Given the description of an element on the screen output the (x, y) to click on. 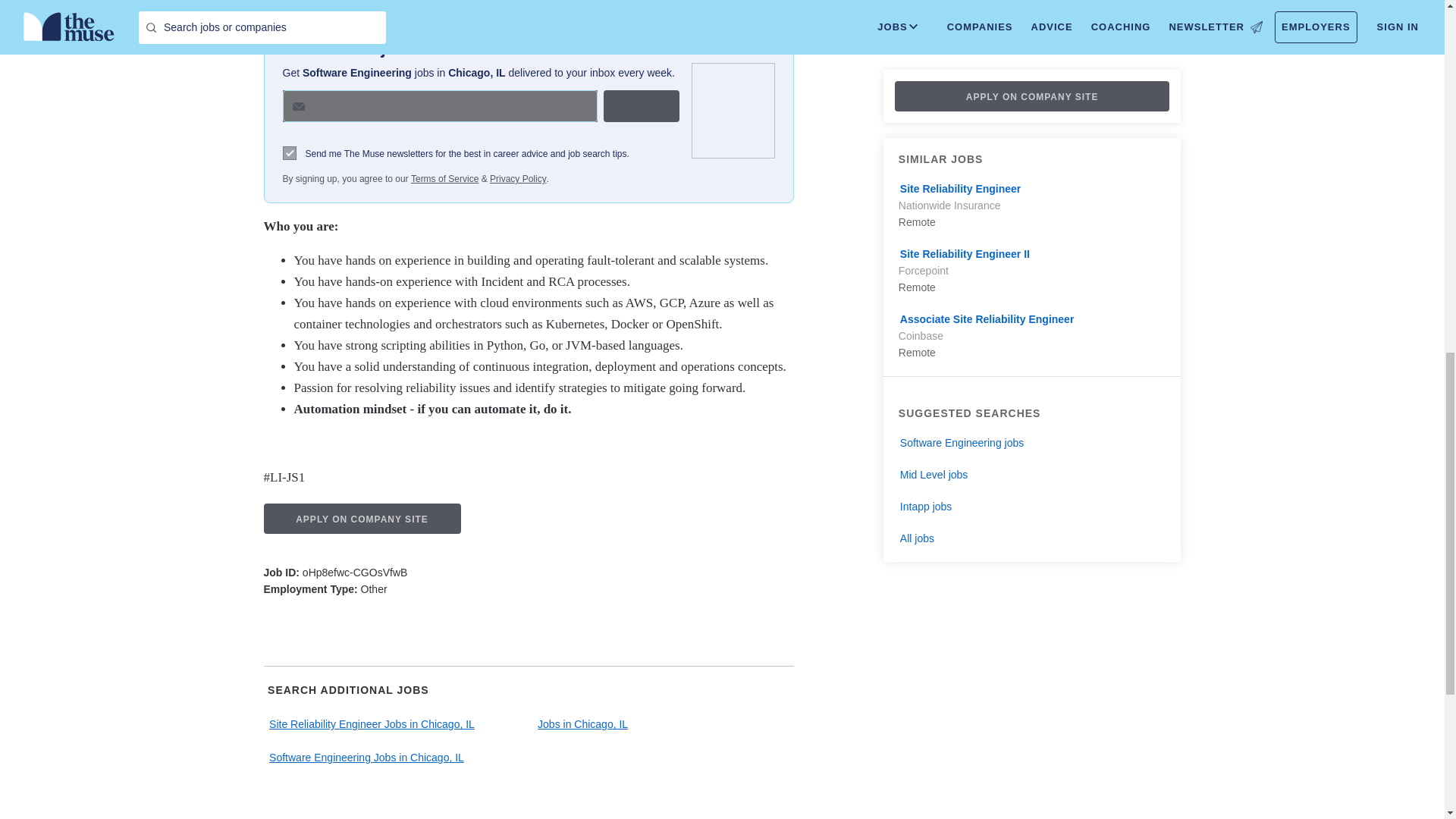
GET JOBS (641, 106)
Terms of Service (444, 178)
